Given the description of an element on the screen output the (x, y) to click on. 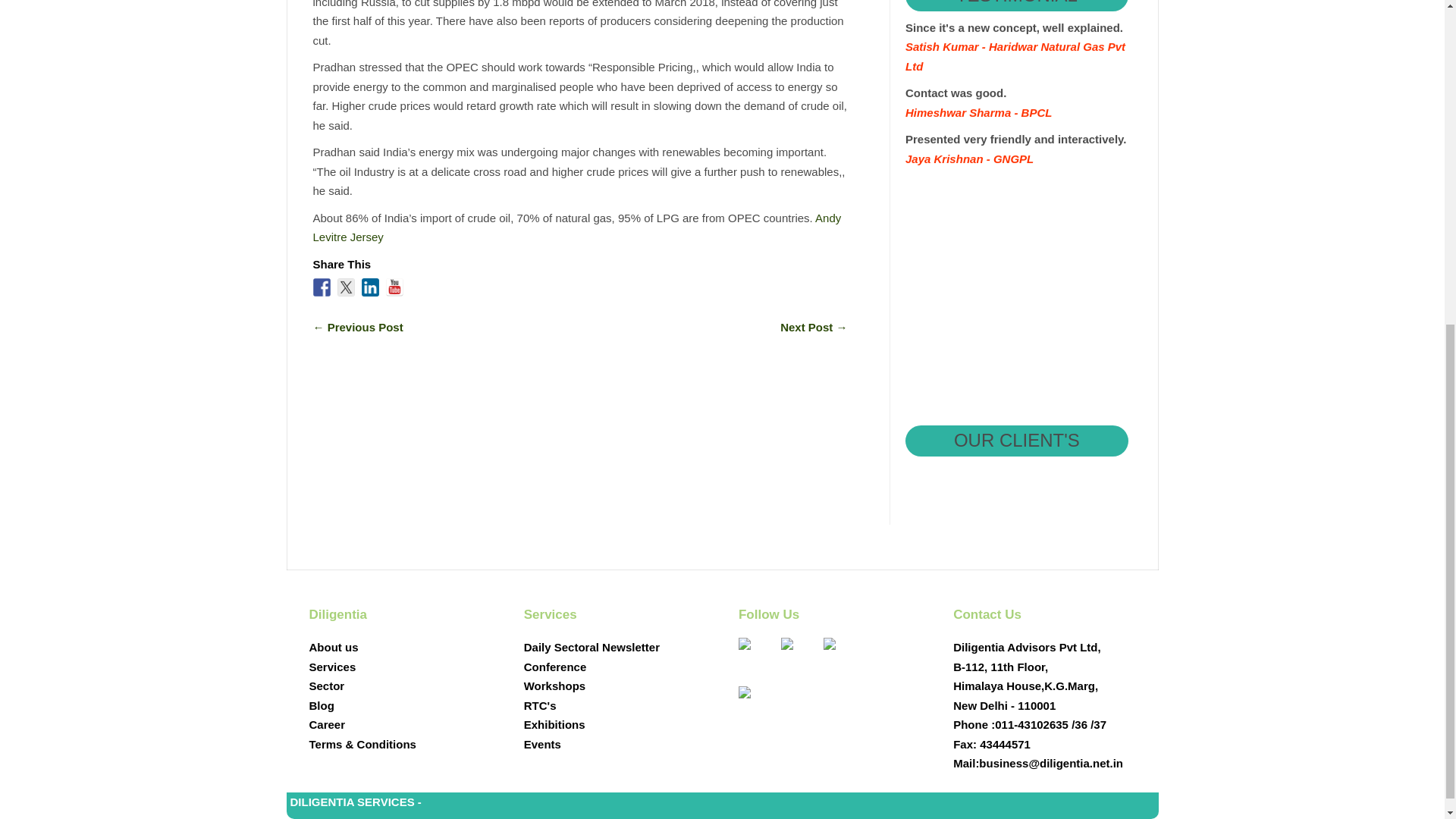
Find us on Linkedin (369, 287)
Find us on YouTube (394, 287)
Follow us on Twitter (798, 656)
Follow us on Twitter (345, 287)
Find us on Linkedin (842, 656)
Follow us on Facebook (321, 287)
Andy Levitre Jersey (577, 227)
Find us on YouTube (756, 704)
Follow us on Facebook (756, 656)
